Given the description of an element on the screen output the (x, y) to click on. 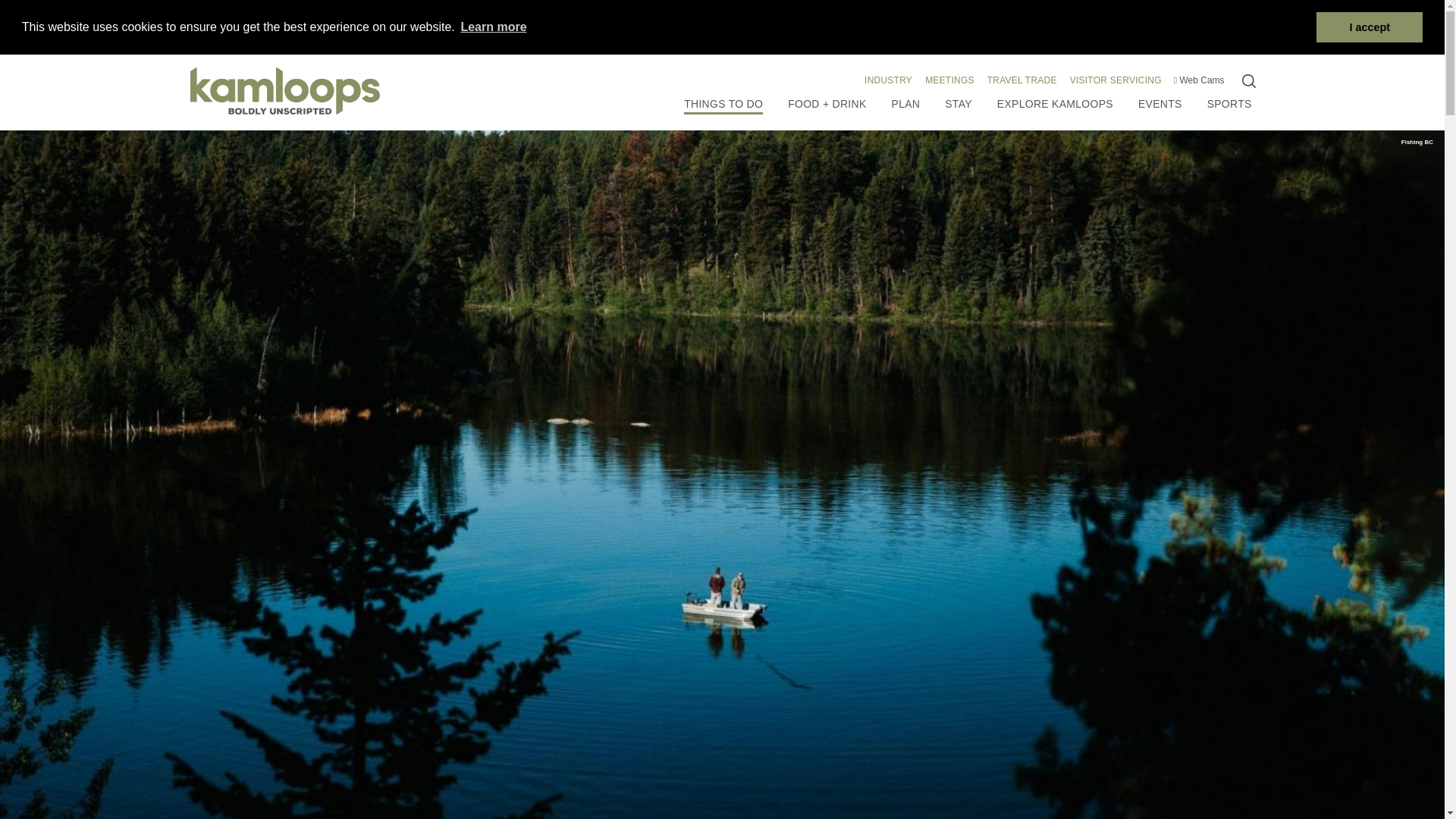
Web Cams (1198, 79)
VISITOR SERVICING (1115, 78)
Meetings (949, 78)
TRAVEL TRADE (1021, 78)
Travel Trade (1021, 78)
INDUSTRY (888, 78)
PLAN (905, 103)
Learn more (493, 26)
I accept (1369, 27)
THINGS TO DO (723, 104)
MEETINGS (949, 78)
Visitor Servicing (1115, 78)
STAY (958, 103)
Industry (888, 78)
